Given the description of an element on the screen output the (x, y) to click on. 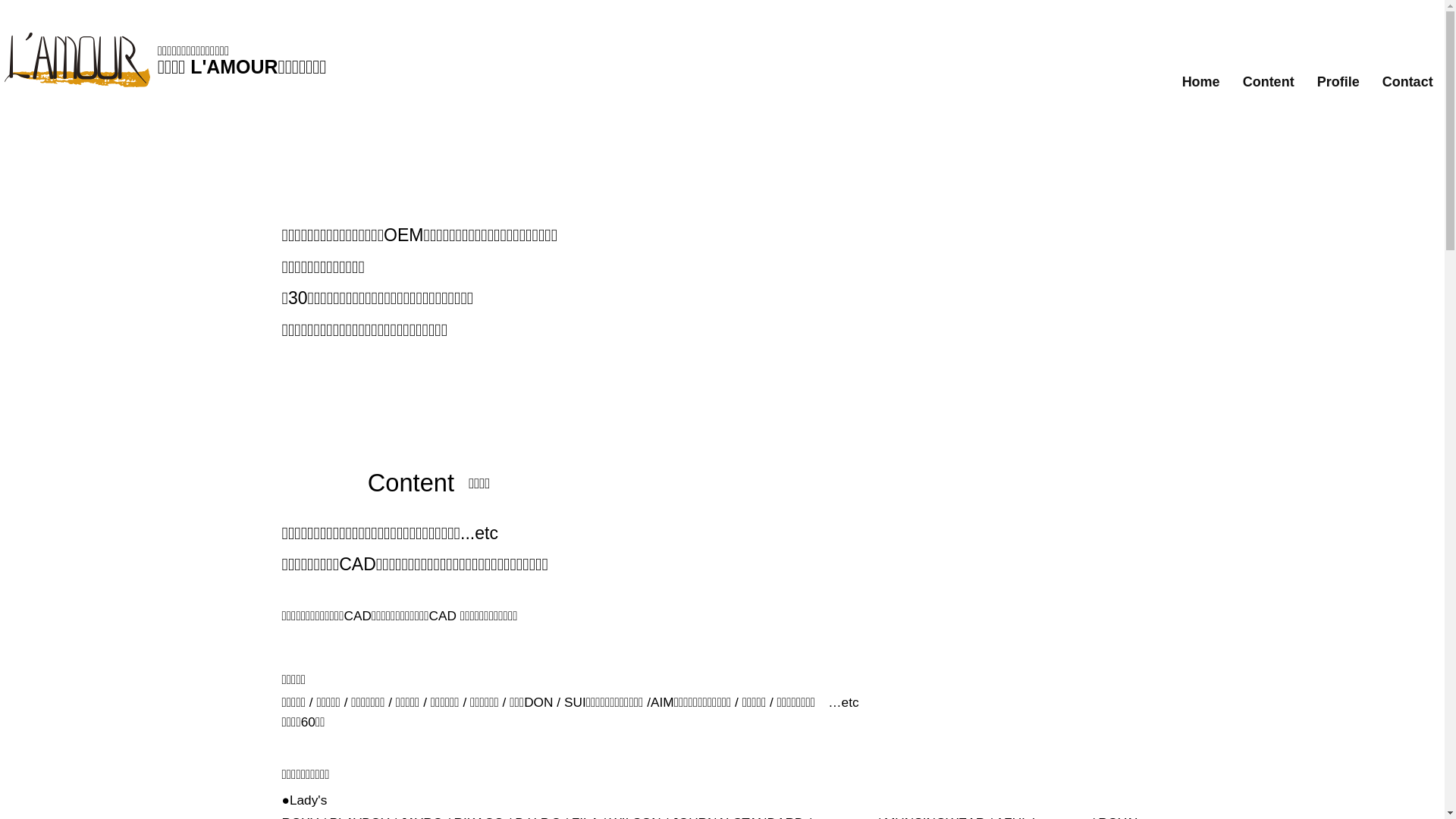
Profile Element type: text (1338, 81)
Contact Element type: text (1407, 81)
Content Element type: text (1268, 81)
Home Element type: text (1201, 81)
